Given the description of an element on the screen output the (x, y) to click on. 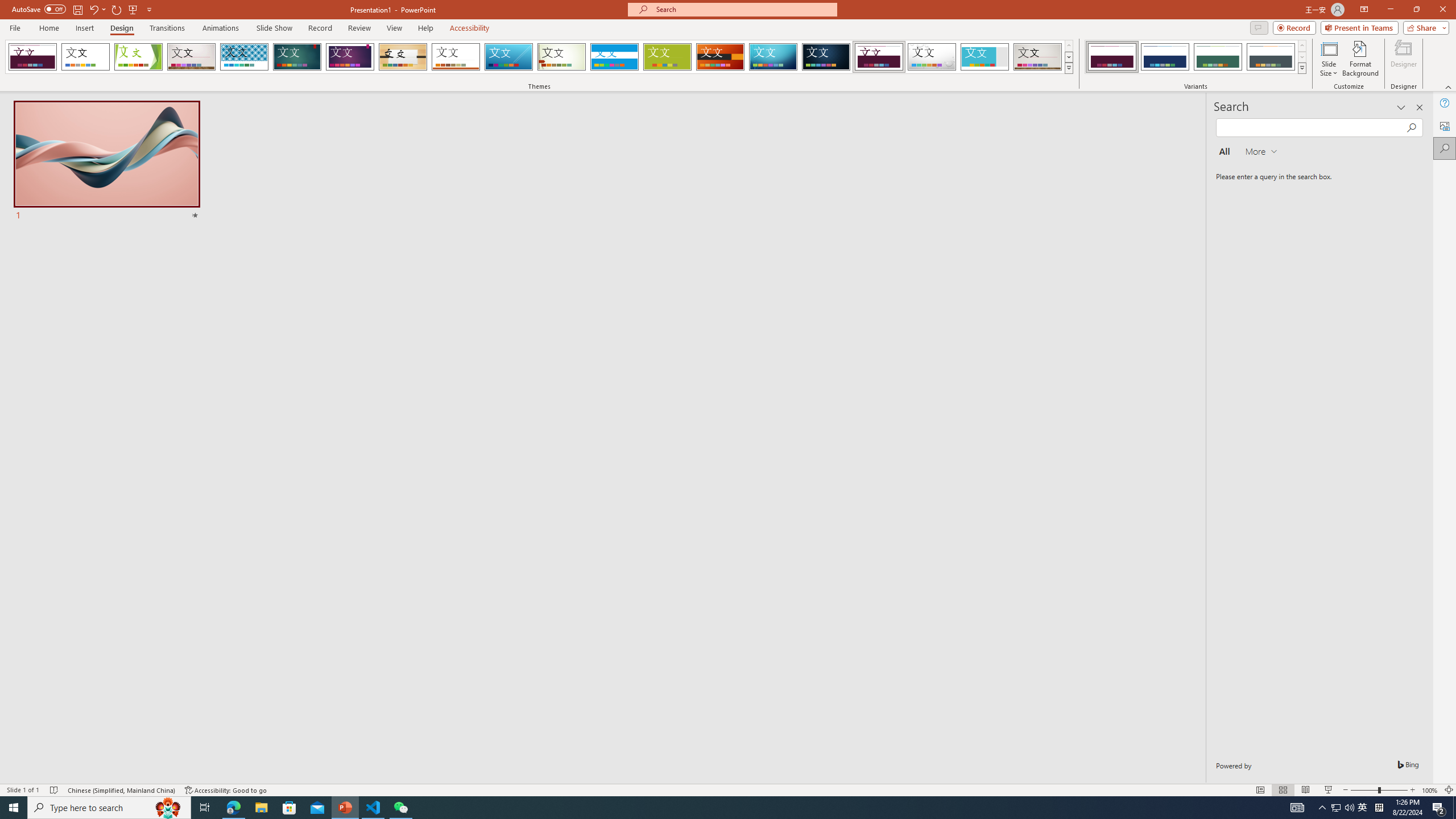
Damask (826, 56)
Variants (1301, 67)
AutomationID: ThemeVariantsGallery (1195, 56)
Circuit (772, 56)
Frame (984, 56)
